Given the description of an element on the screen output the (x, y) to click on. 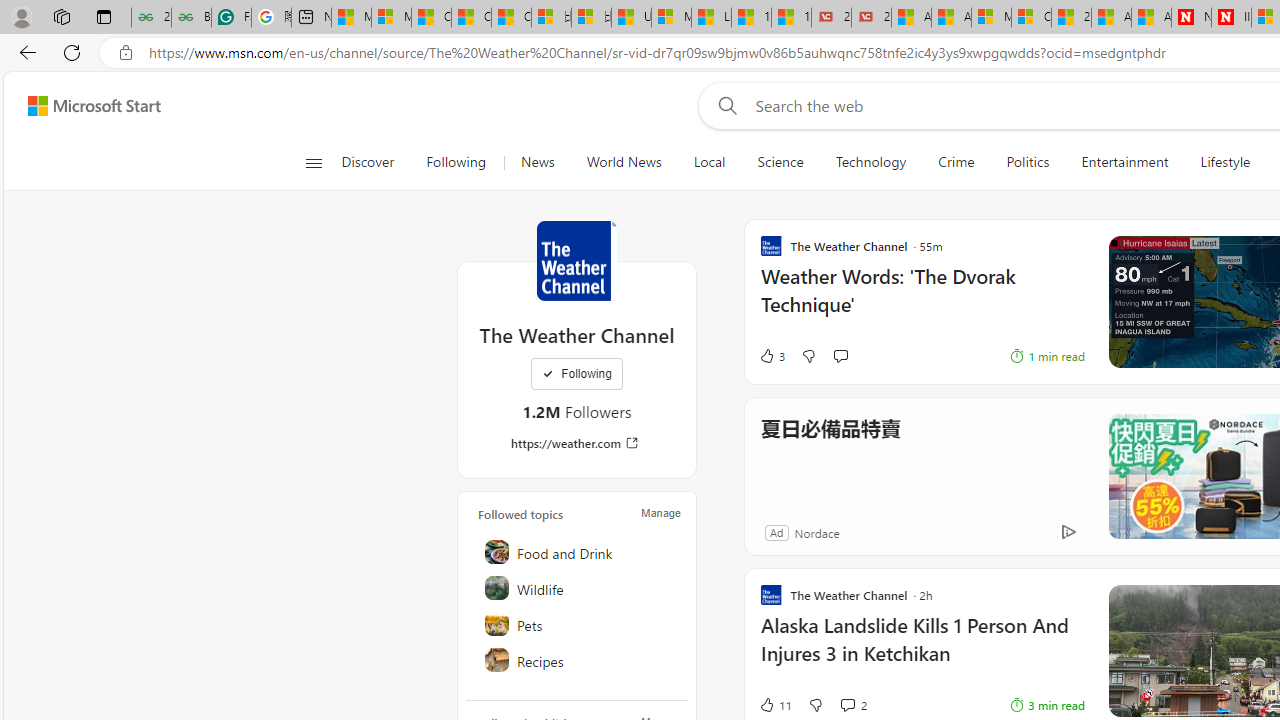
https://weather.com (576, 443)
11 Like (775, 704)
USA TODAY - MSN (631, 17)
15 Ways Modern Life Contradicts the Teachings of Jesus (791, 17)
Alaska Landslide Kills 1 Person And Injures 3 in Ketchikan (922, 650)
